Given the description of an element on the screen output the (x, y) to click on. 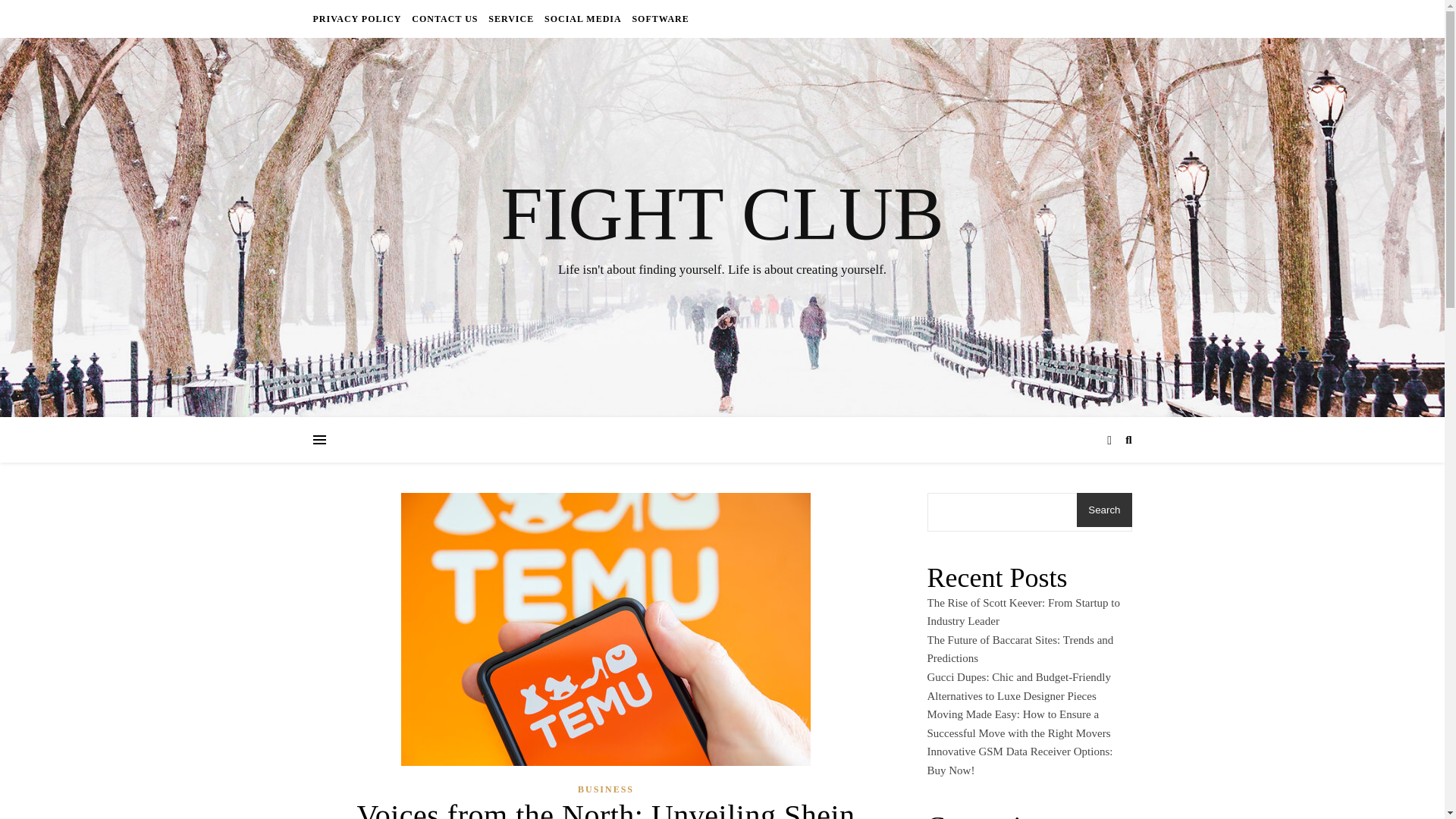
Innovative GSM Data Receiver Options: Buy Now! (1019, 760)
The Rise of Scott Keever: From Startup to Industry Leader (1022, 612)
SERVICE (510, 18)
SOFTWARE (657, 18)
BUSINESS (605, 789)
Search (1104, 510)
SOCIAL MEDIA (583, 18)
PRIVACY POLICY (358, 18)
The Future of Baccarat Sites: Trends and Predictions (1019, 649)
CONTACT US (444, 18)
